Given the description of an element on the screen output the (x, y) to click on. 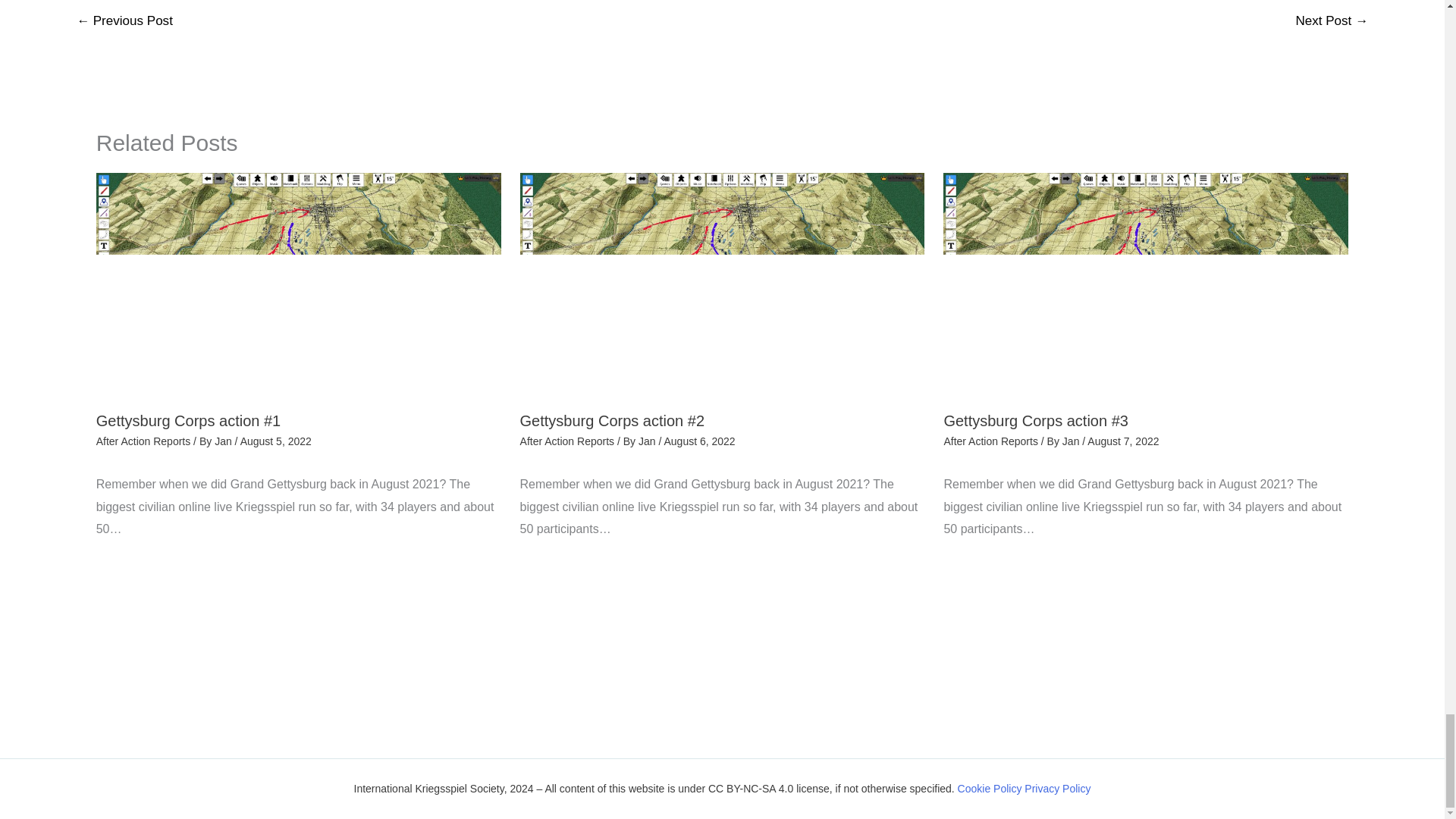
View all posts by Jan (648, 440)
View all posts by Jan (1071, 440)
View all posts by Jan (224, 440)
